Given the description of an element on the screen output the (x, y) to click on. 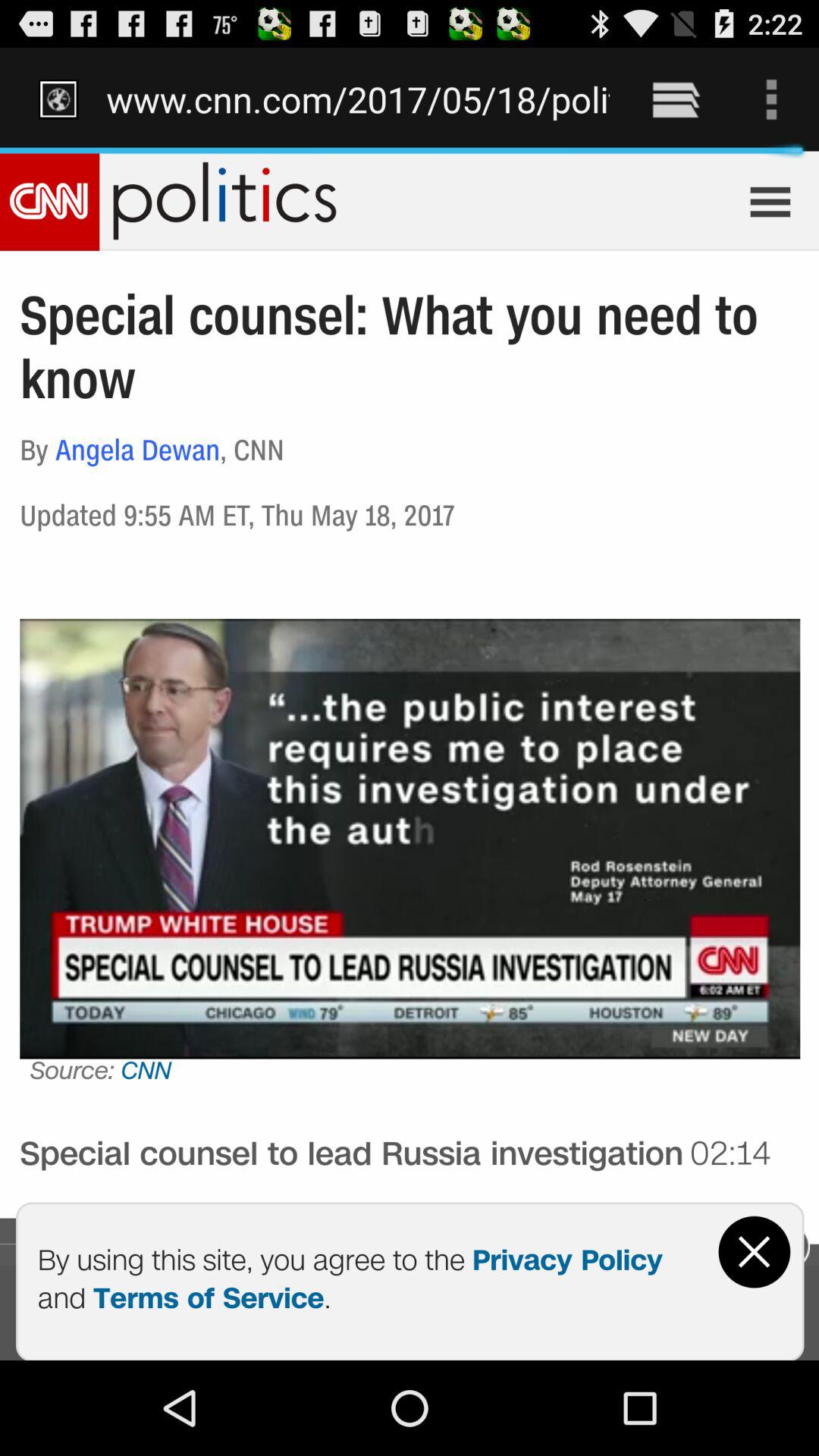
go to the text beside the battery icon (771, 55)
go to the bottom left corner of the image (127, 1421)
